Given the description of an element on the screen output the (x, y) to click on. 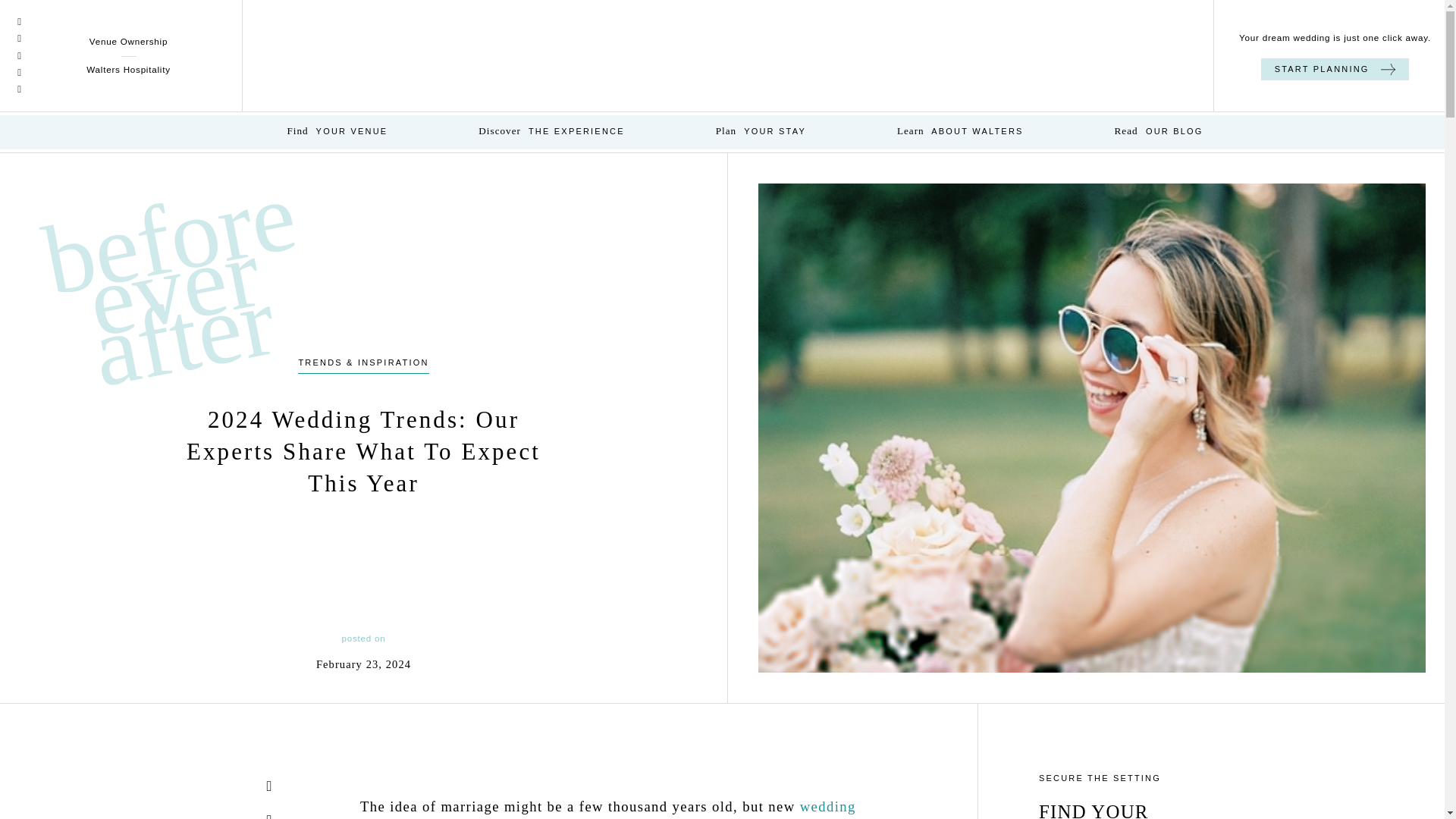
Venue Ownership (128, 41)
Walters Hospitality (128, 69)
Find YOUR VENUE (336, 131)
